Given the description of an element on the screen output the (x, y) to click on. 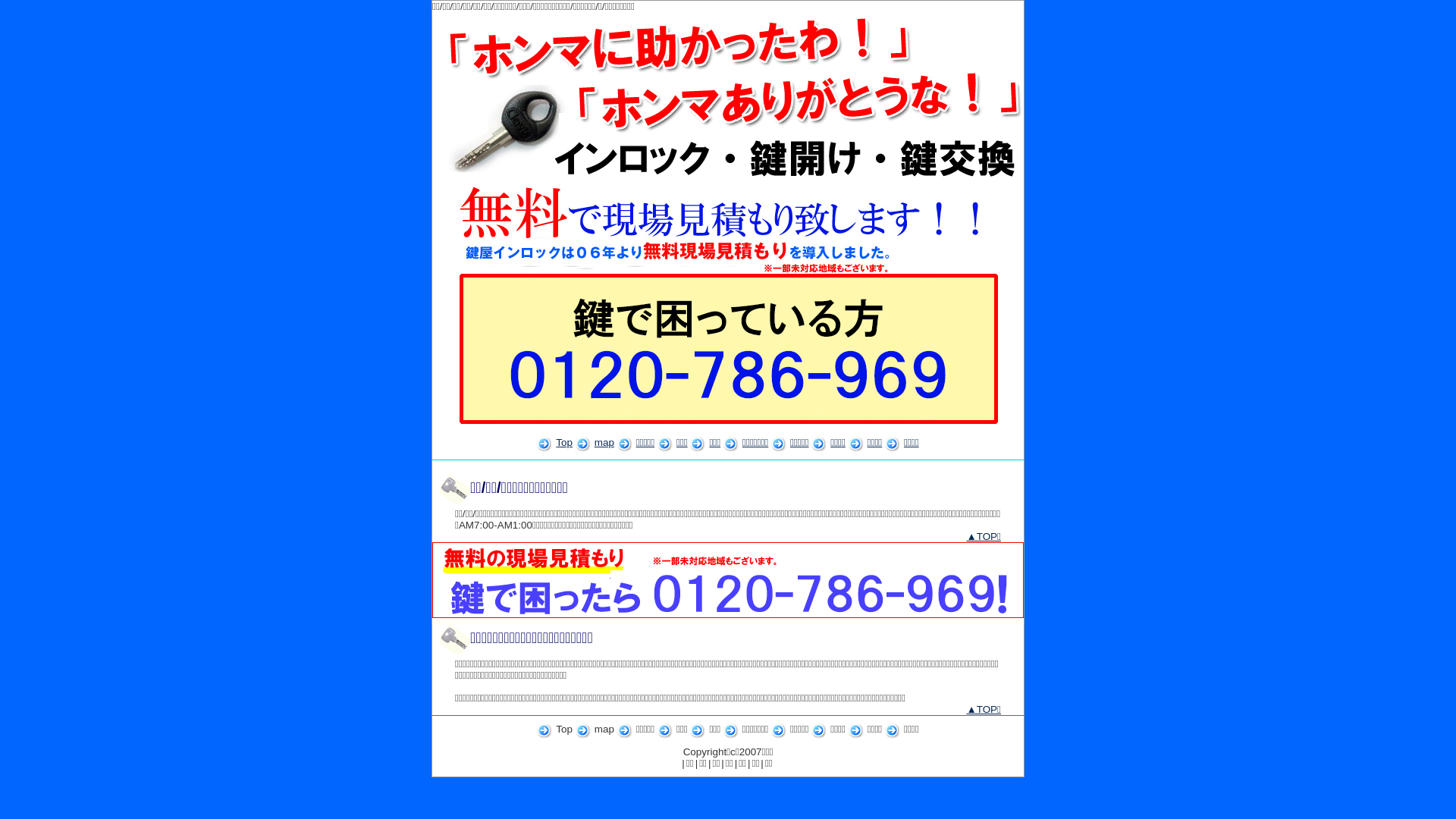
Top Element type: text (563, 728)
Top Element type: text (563, 442)
map Element type: text (604, 442)
map Element type: text (604, 728)
